Given the description of an element on the screen output the (x, y) to click on. 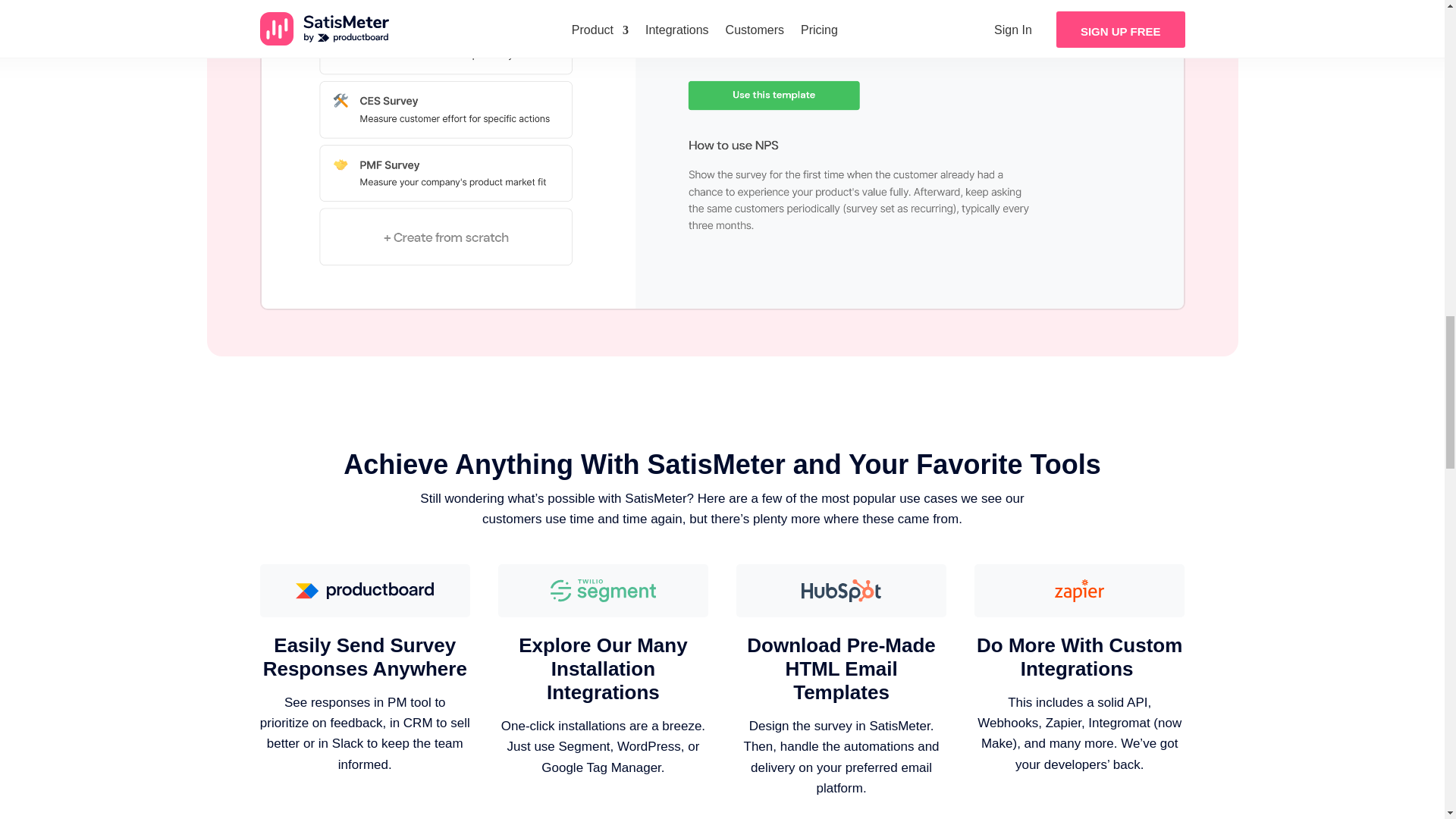
Productboard-cropped (364, 590)
HubSpot (842, 590)
Segment (603, 590)
Zapier (1079, 590)
